Given the description of an element on the screen output the (x, y) to click on. 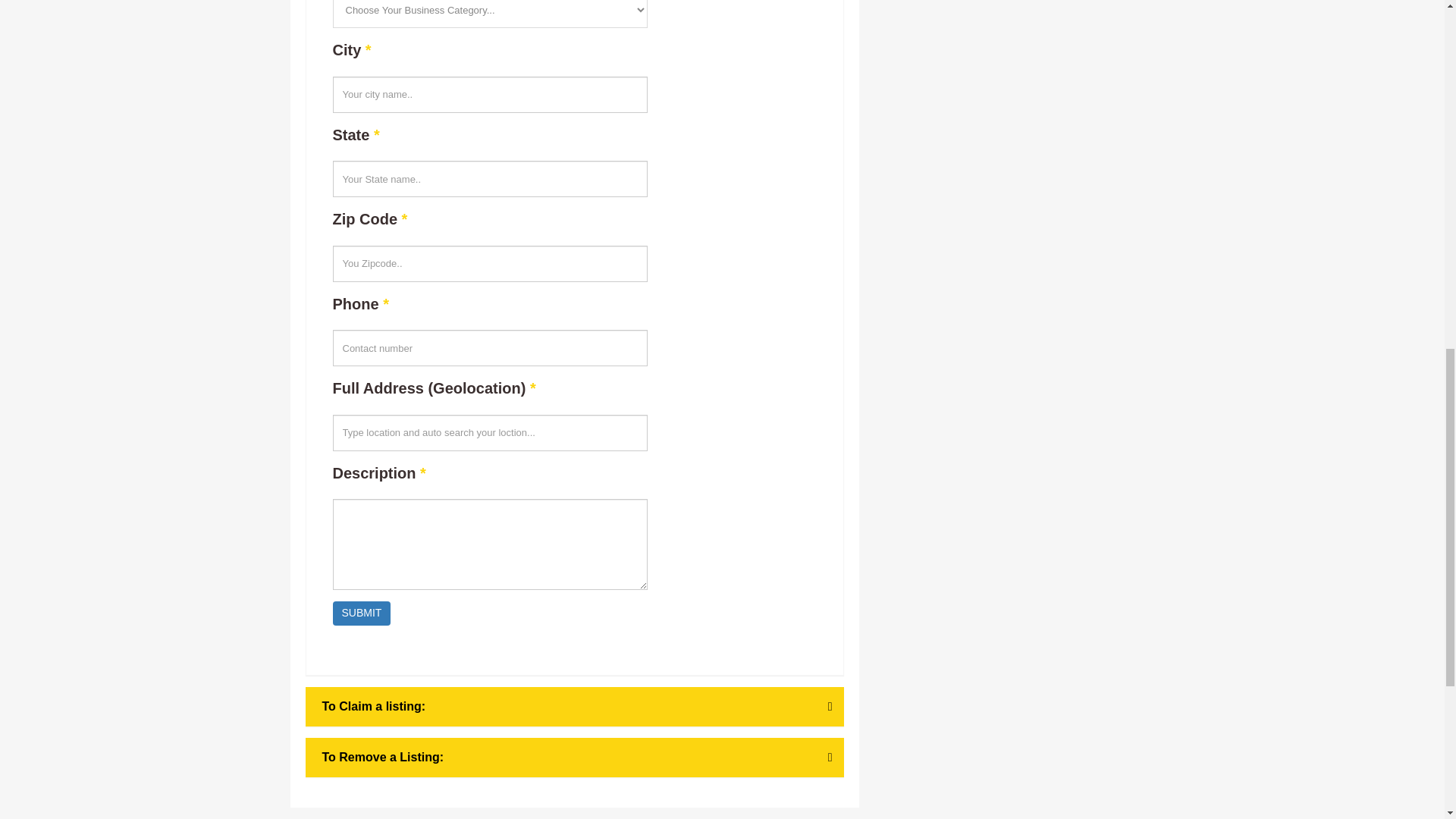
To Remove a Listing: (574, 757)
SUBMIT (360, 613)
SUBMIT (360, 613)
To Claim a listing: (574, 706)
